Given the description of an element on the screen output the (x, y) to click on. 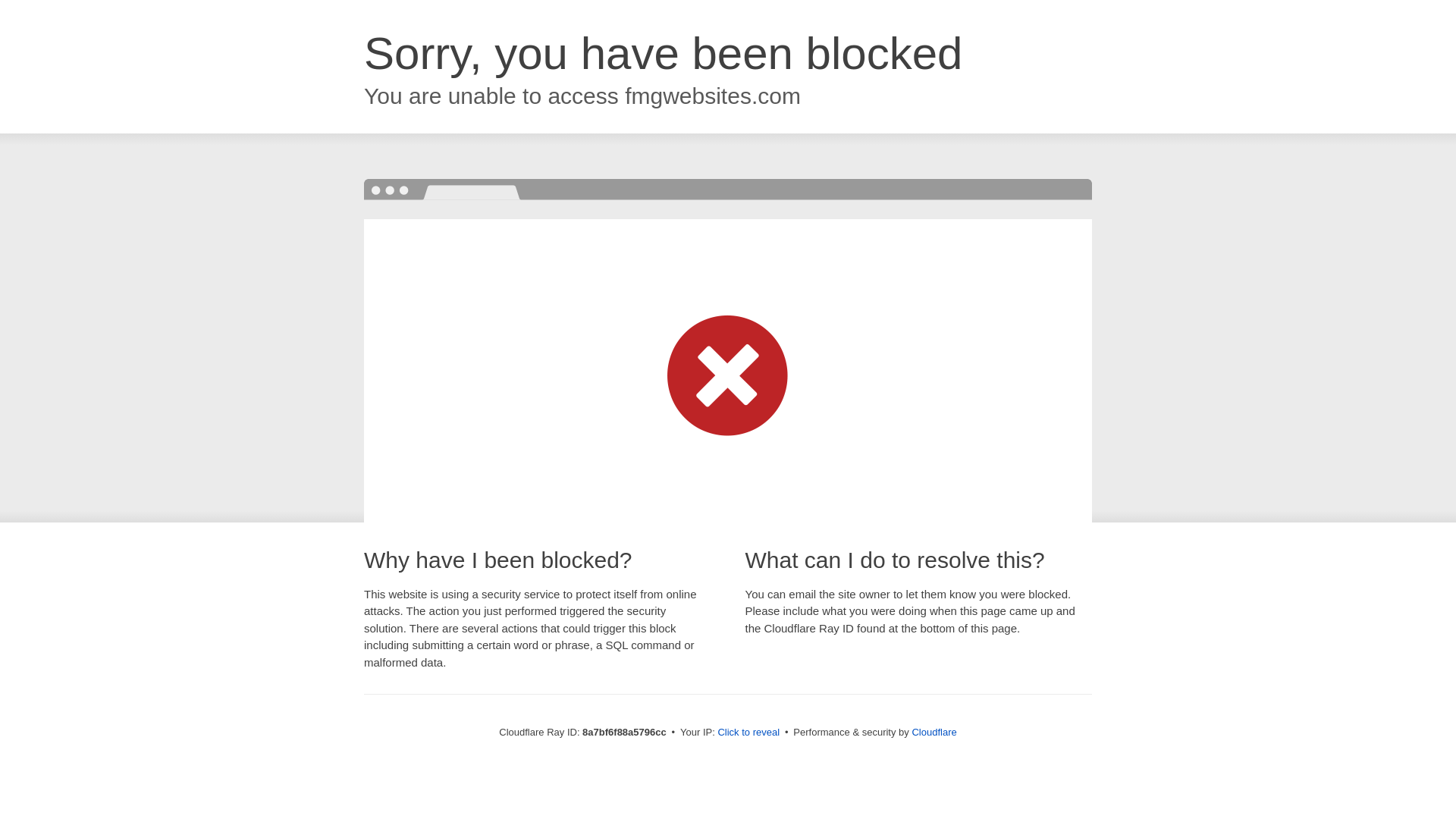
Click to reveal (747, 732)
Cloudflare (933, 731)
